Given the description of an element on the screen output the (x, y) to click on. 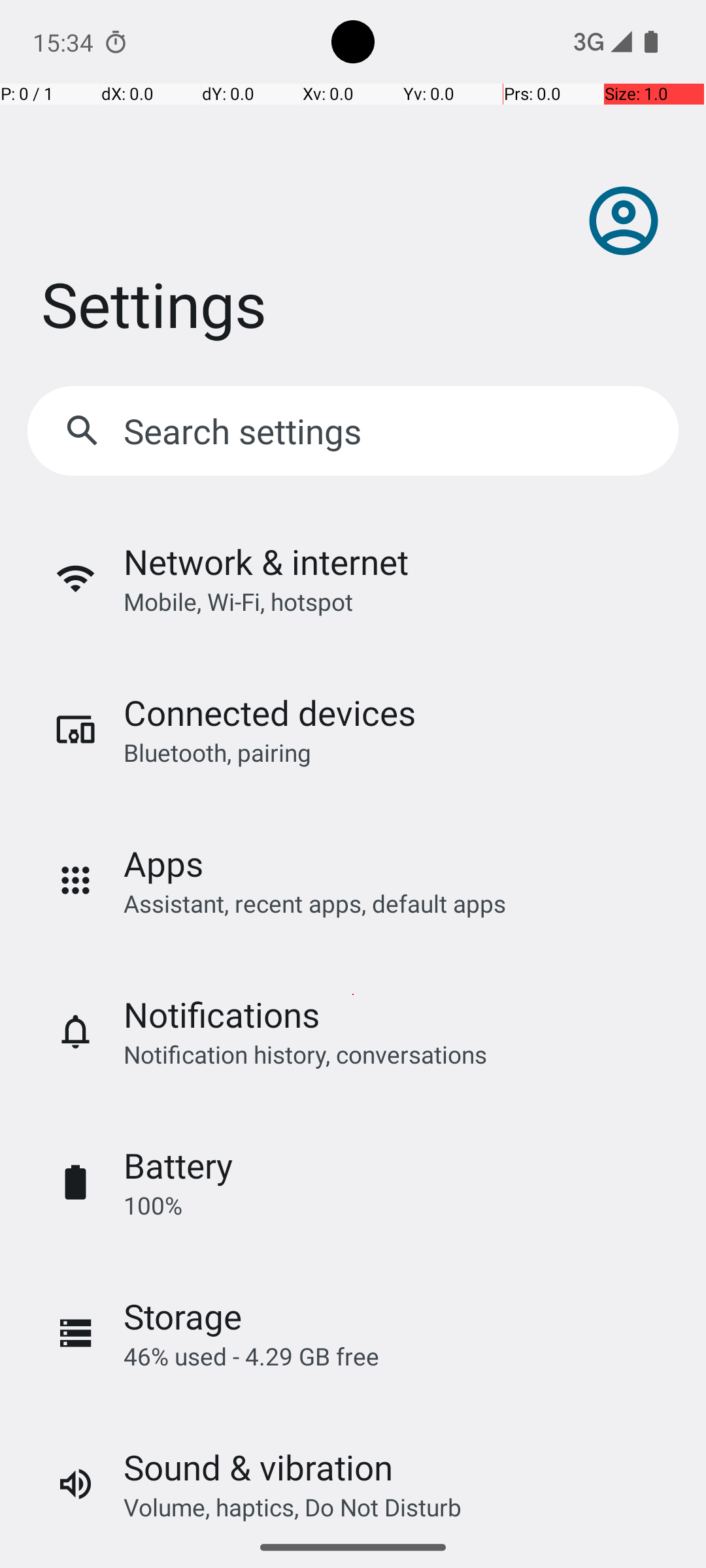
46% used - 4.29 GB free Element type: android.widget.TextView (251, 1355)
